Given the description of an element on the screen output the (x, y) to click on. 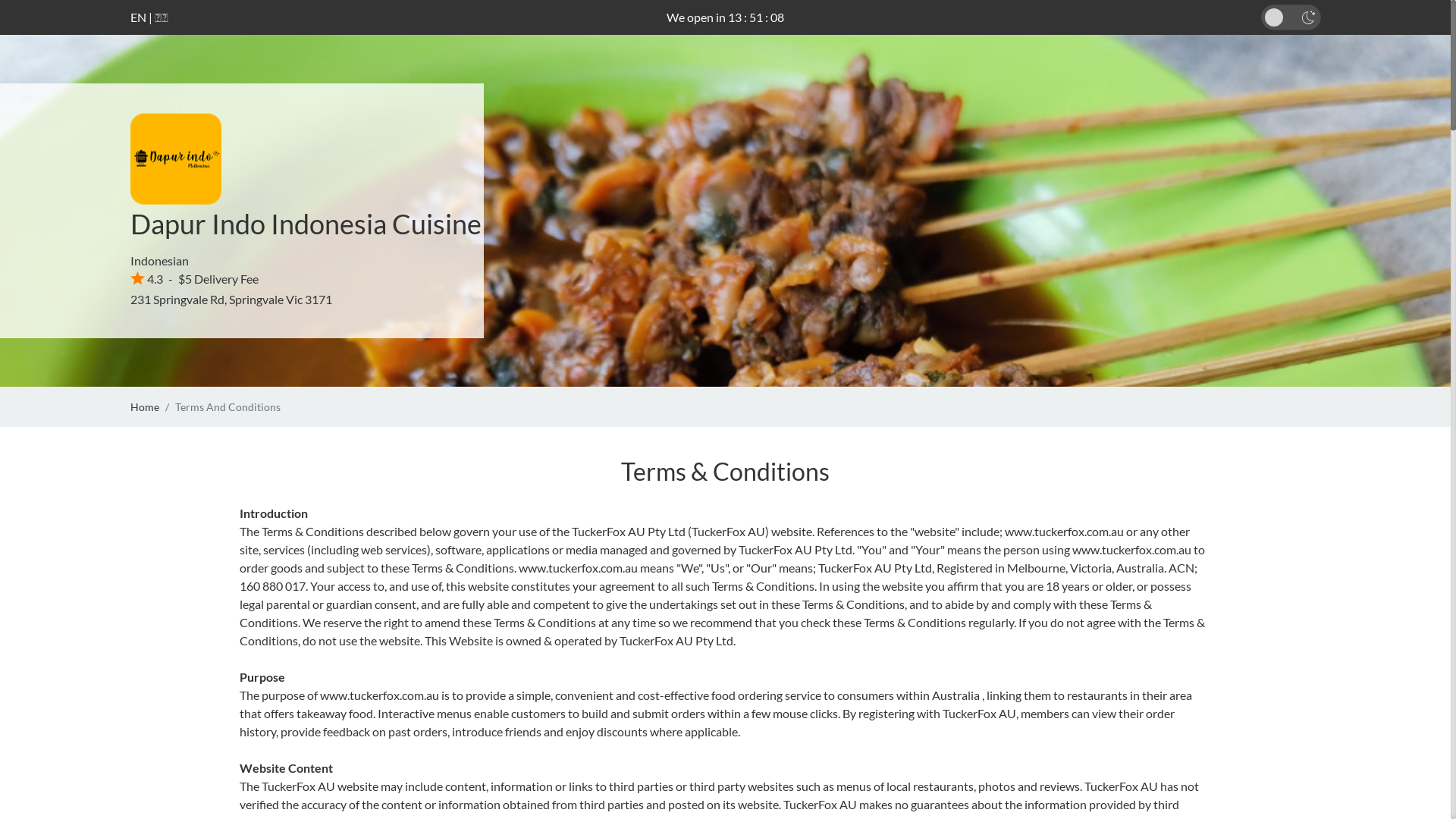
Home Element type: text (144, 406)
EN Element type: text (138, 16)
4.3 Element type: text (146, 278)
Dapur Indo Indonesia Cuisine Element type: text (305, 223)
